Given the description of an element on the screen output the (x, y) to click on. 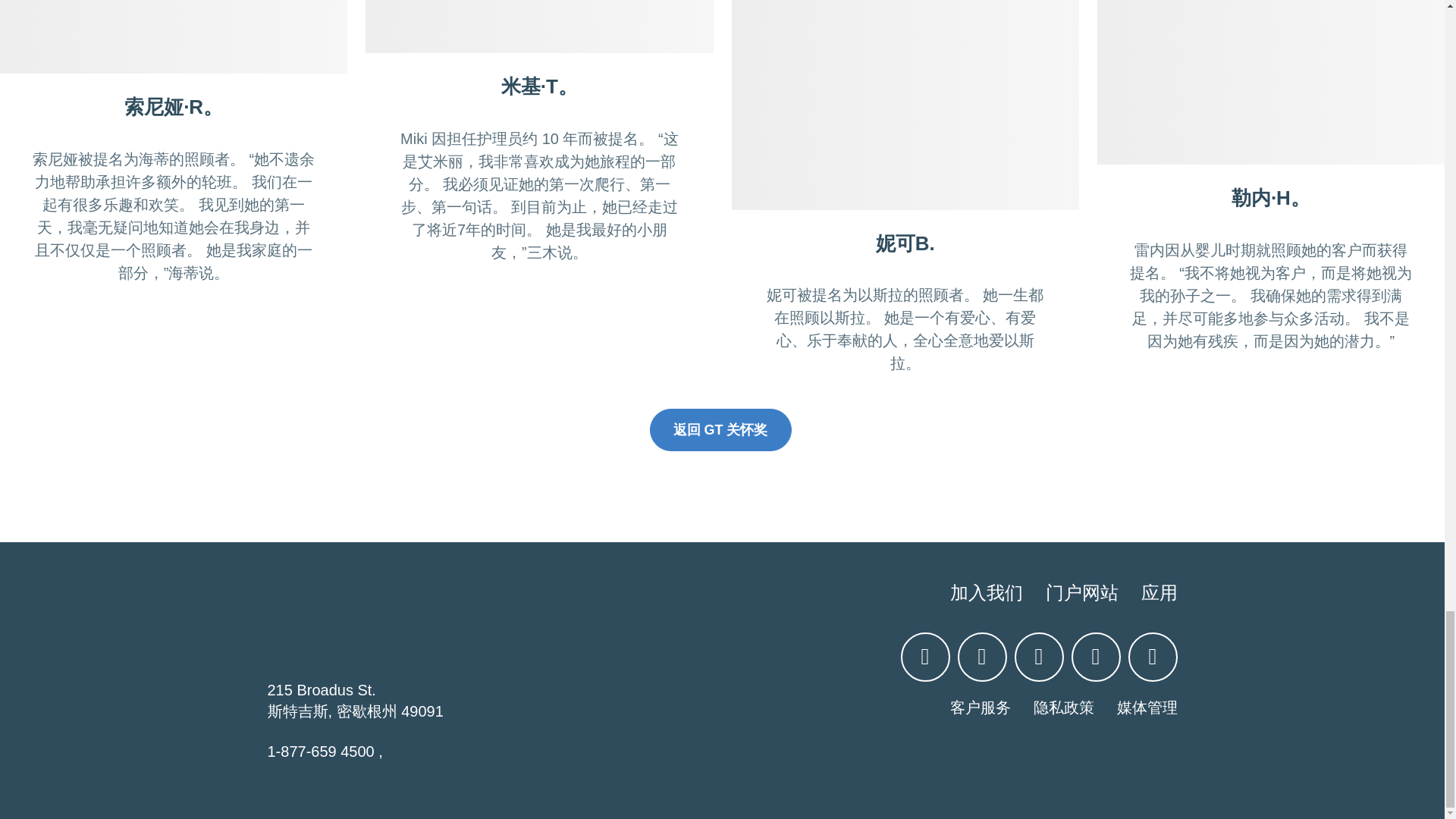
1-877-659 4500 , (323, 751)
